Given the description of an element on the screen output the (x, y) to click on. 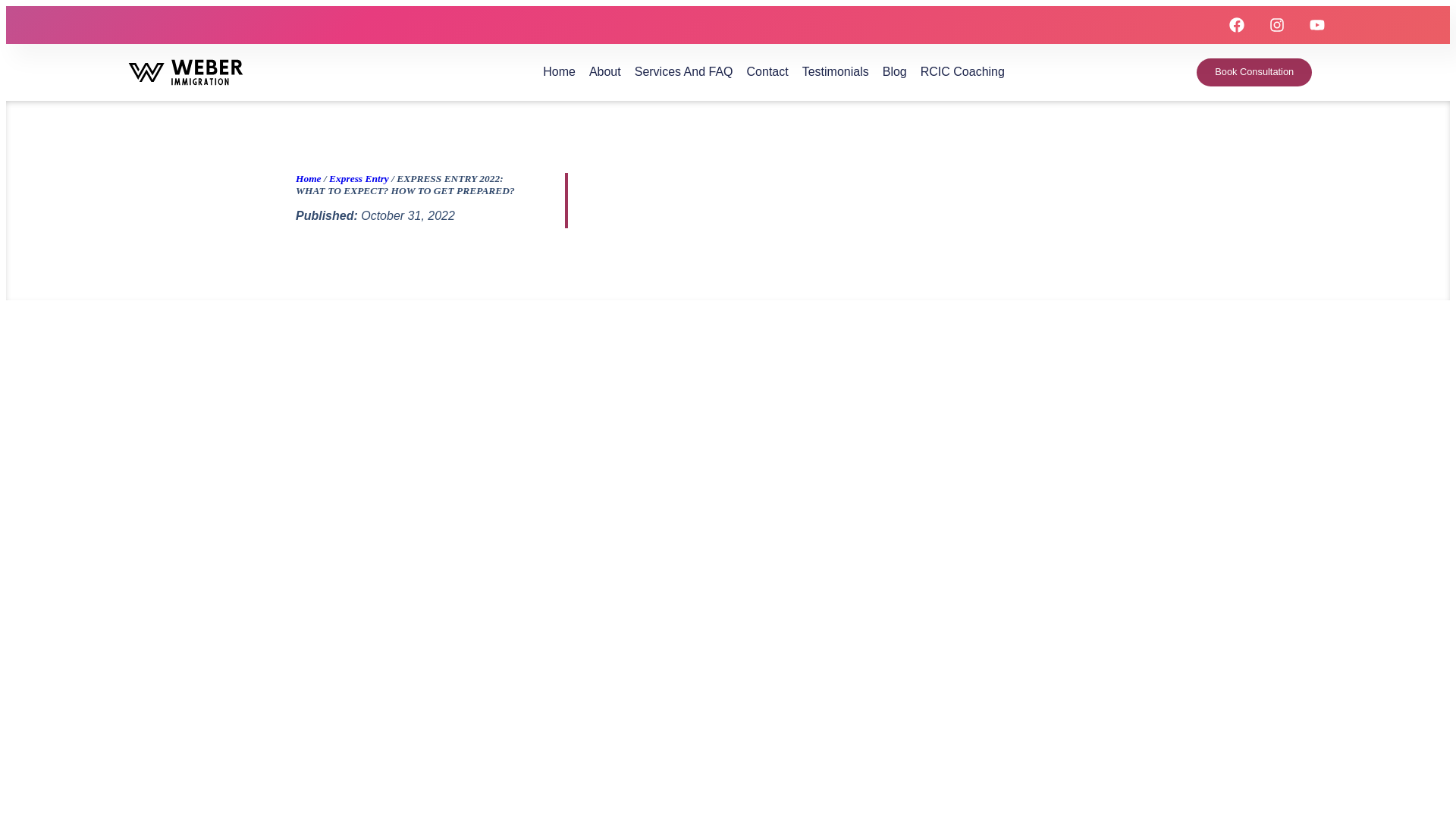
Home (308, 178)
Testimonials (835, 71)
Book Consultation (1253, 72)
Home (308, 178)
About (605, 71)
Blog (894, 71)
Home (559, 71)
Express Entry (358, 178)
Express Entry (358, 178)
Contact (767, 71)
Services And FAQ (683, 71)
RCIC Coaching (962, 71)
